Given the description of an element on the screen output the (x, y) to click on. 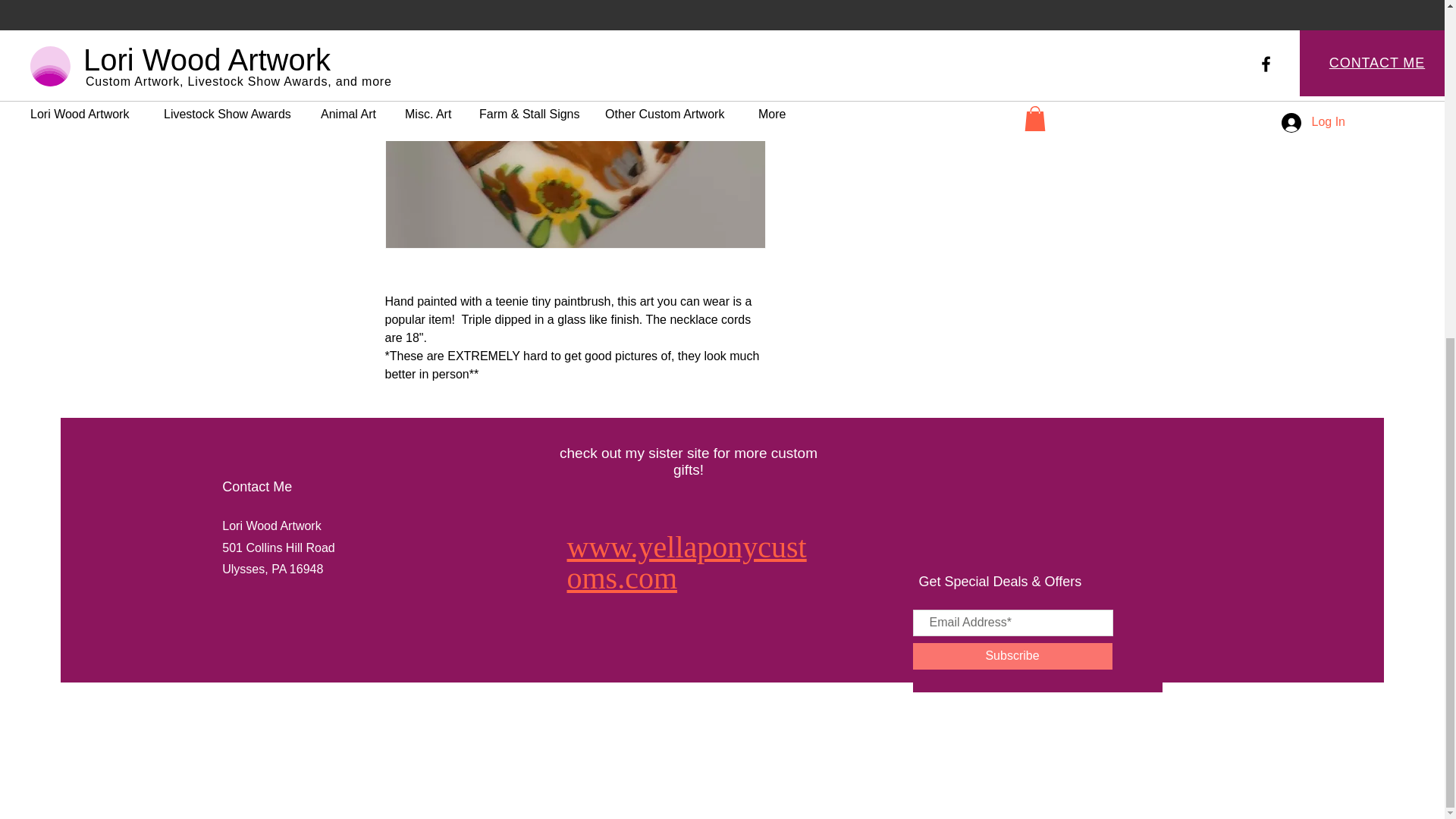
www.yellaponycustoms.com (686, 561)
Check Out Lori Wood Artwork on Facebook! (1007, 712)
Subscribe (1012, 655)
